Given the description of an element on the screen output the (x, y) to click on. 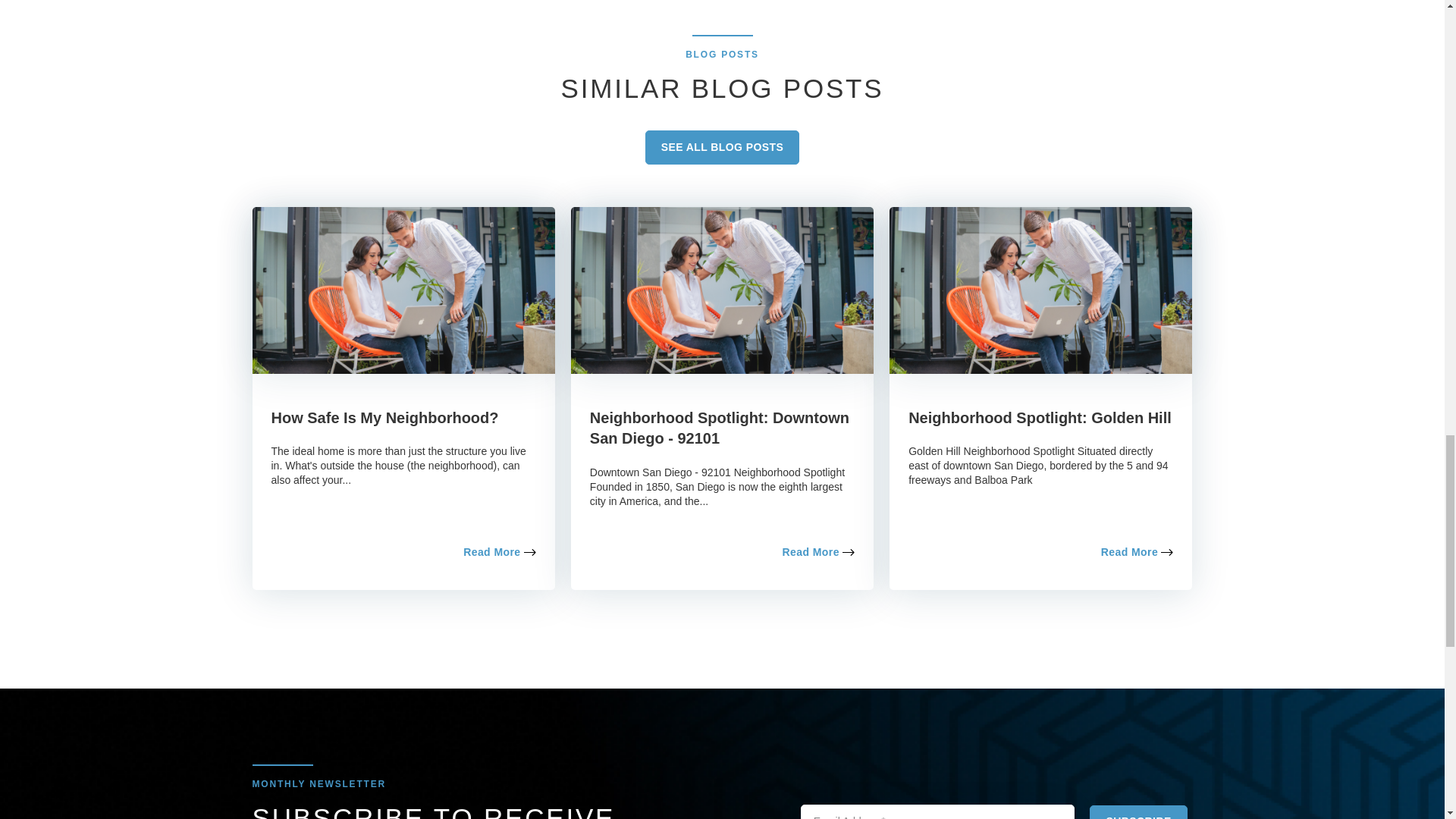
Read More (817, 551)
SEE ALL BLOG POSTS (722, 147)
Subscribe (1137, 812)
Read More (499, 551)
Subscribe (1137, 812)
Read More (1136, 551)
SEE ALL BLOG POSTS (722, 147)
